Given the description of an element on the screen output the (x, y) to click on. 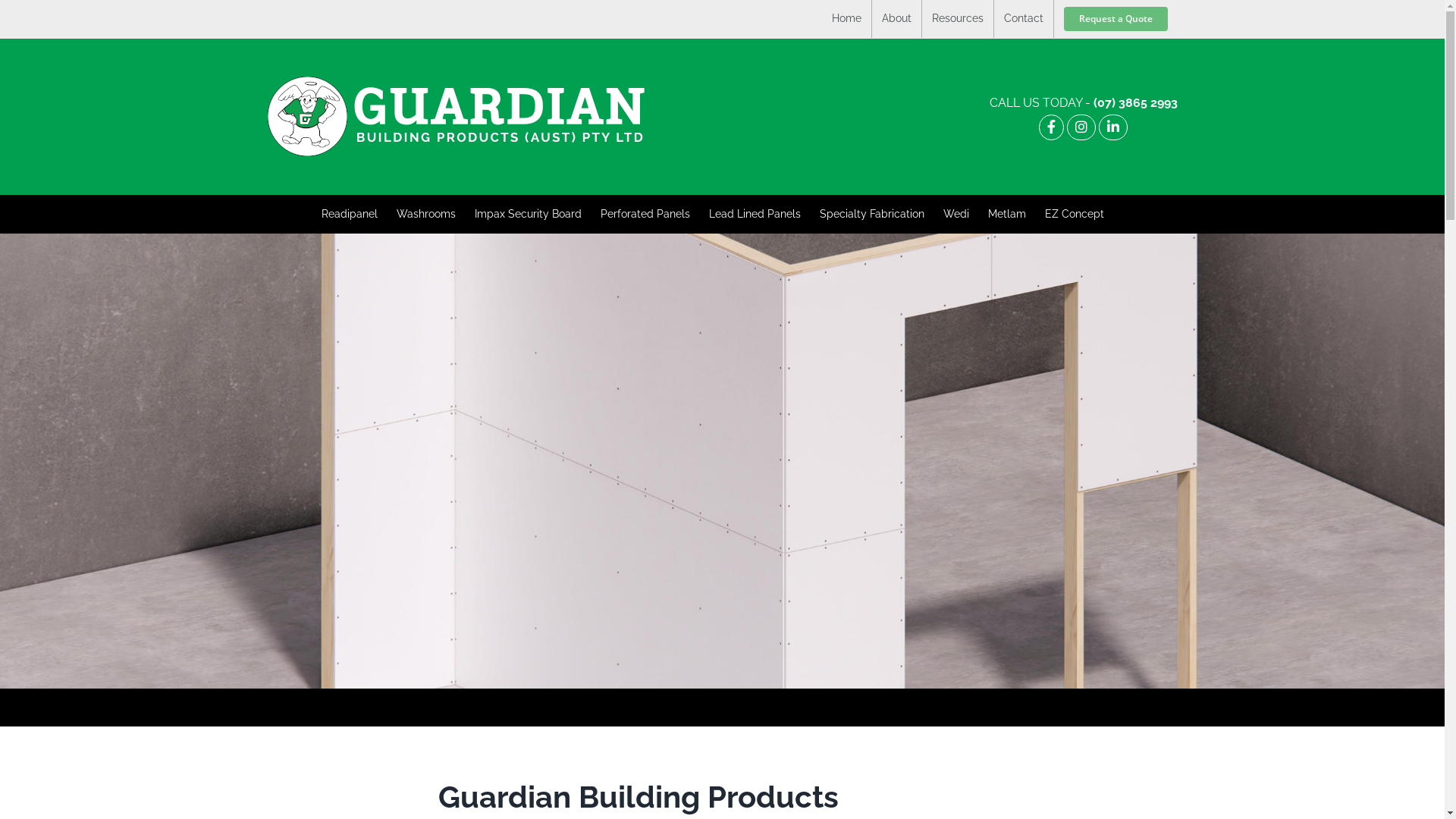
Request a Quote Element type: text (1115, 18)
EZ Concept Element type: text (1074, 213)
Wedi Element type: text (956, 213)
Contact Element type: text (1022, 18)
About Element type: text (896, 18)
Impax Security Board Element type: text (527, 213)
Readipanel Element type: text (349, 213)
Home Element type: text (846, 18)
Lead Lined Panels Element type: text (754, 213)
Washrooms Element type: text (425, 213)
Metlam Element type: text (1007, 213)
Resources Element type: text (957, 18)
Specialty Fabrication Element type: text (871, 213)
Perforated Panels Element type: text (645, 213)
